Given the description of an element on the screen output the (x, y) to click on. 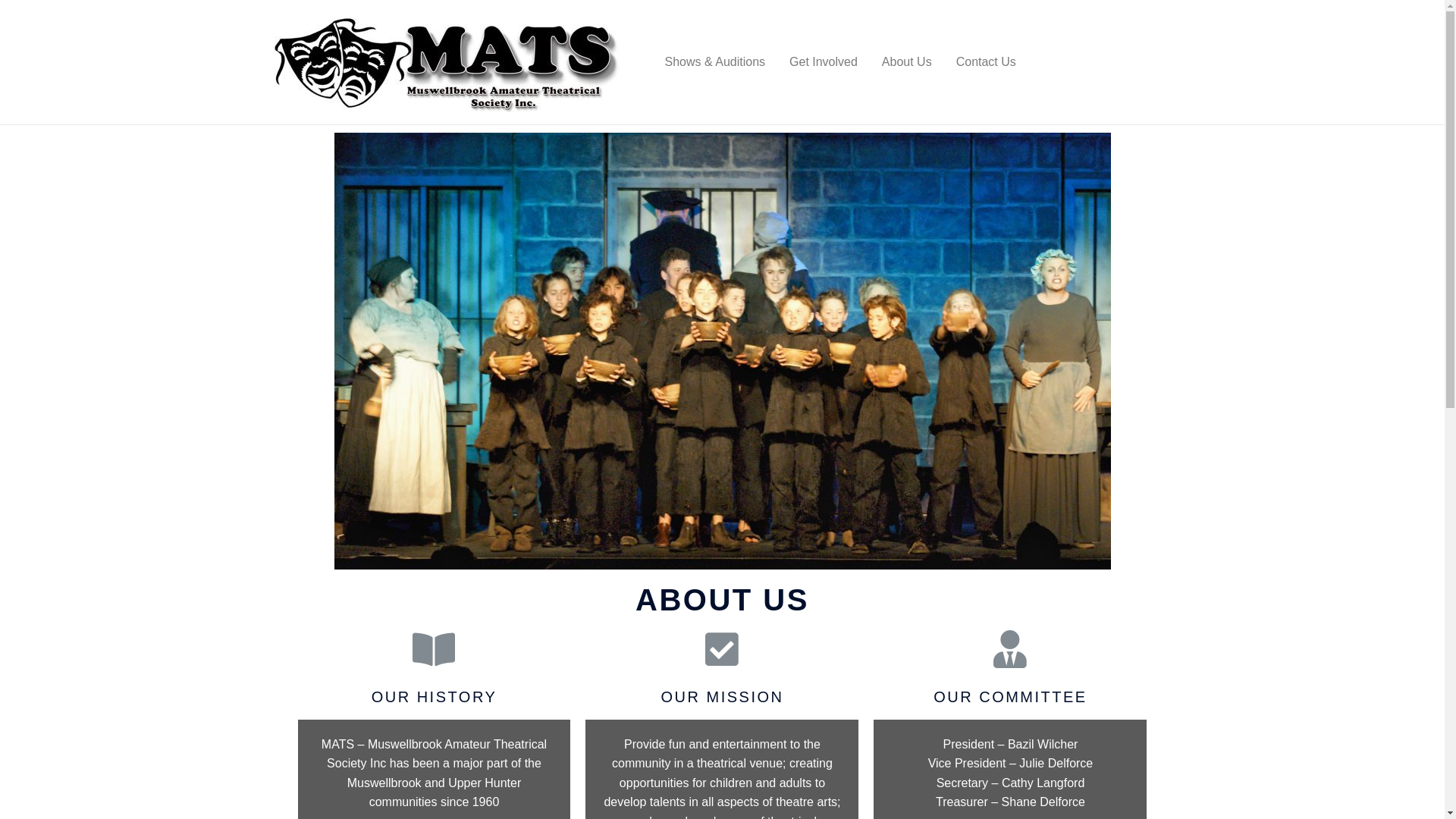
Contact Us Element type: text (986, 61)
About Us Element type: text (906, 61)
Get Involved Element type: text (823, 61)
Shows & Auditions Element type: text (714, 61)
